Given the description of an element on the screen output the (x, y) to click on. 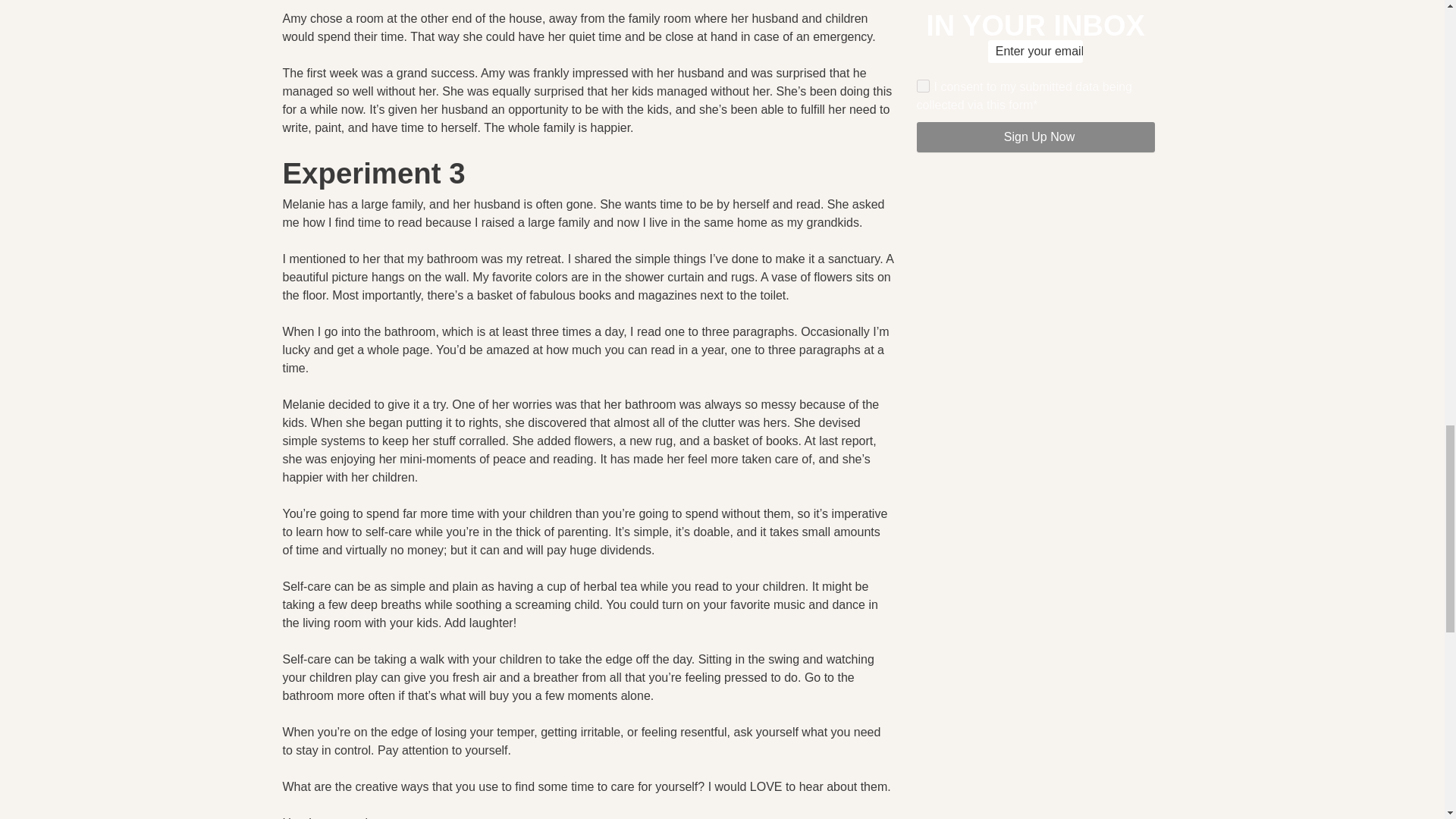
on (921, 85)
Sign Up Now (1034, 137)
Enter your email here (1035, 51)
